Given the description of an element on the screen output the (x, y) to click on. 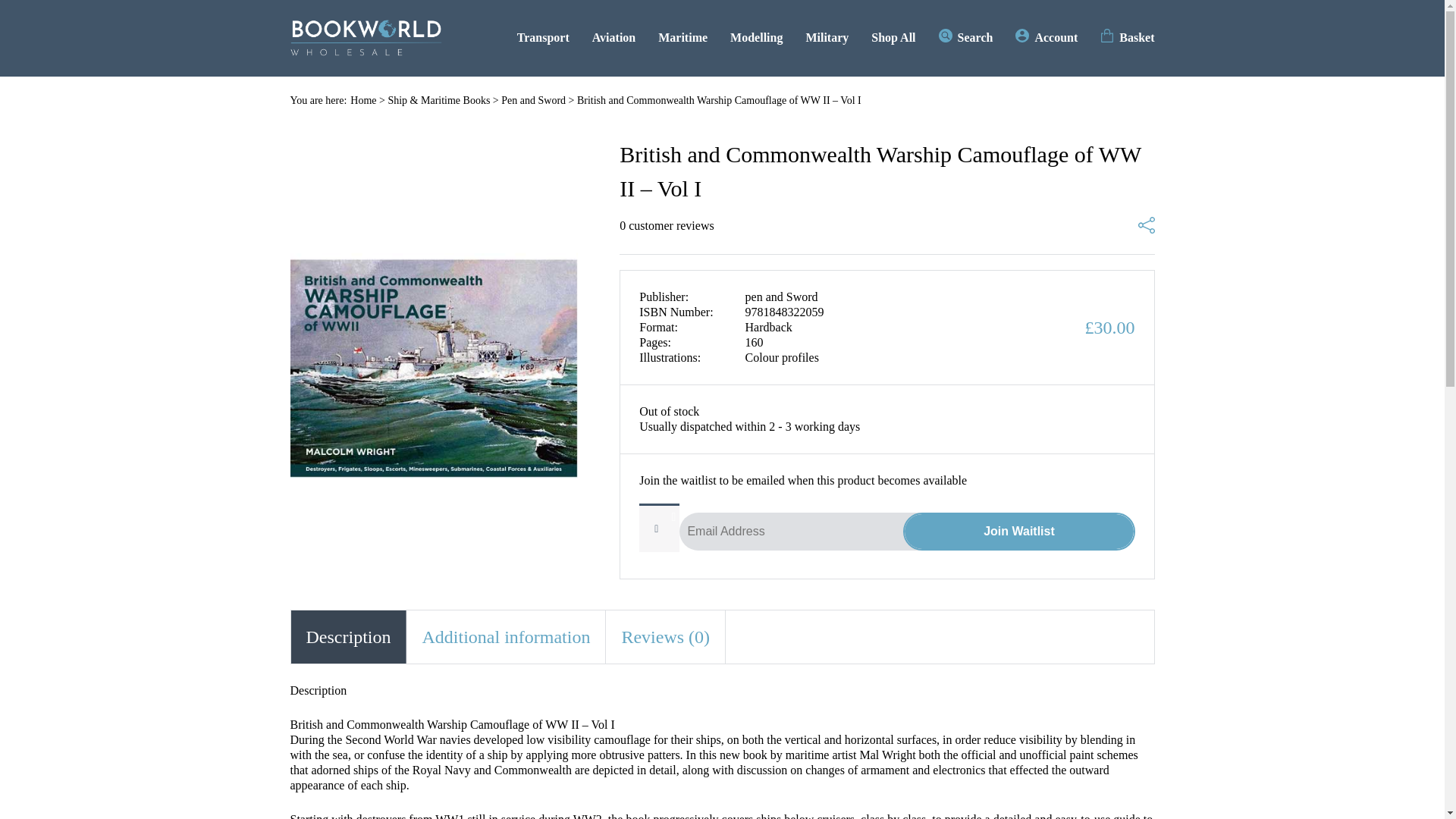
Military (826, 37)
Additional information (505, 636)
Modelling (756, 37)
Maritime (682, 37)
Basket (1127, 37)
Description (349, 636)
Search (965, 37)
Account (1045, 37)
Pen and Sword (533, 100)
Join Waitlist (1018, 531)
Aviation (613, 37)
Home (362, 100)
0 customer reviews (666, 225)
Shop All (892, 37)
Transport (542, 37)
